Given the description of an element on the screen output the (x, y) to click on. 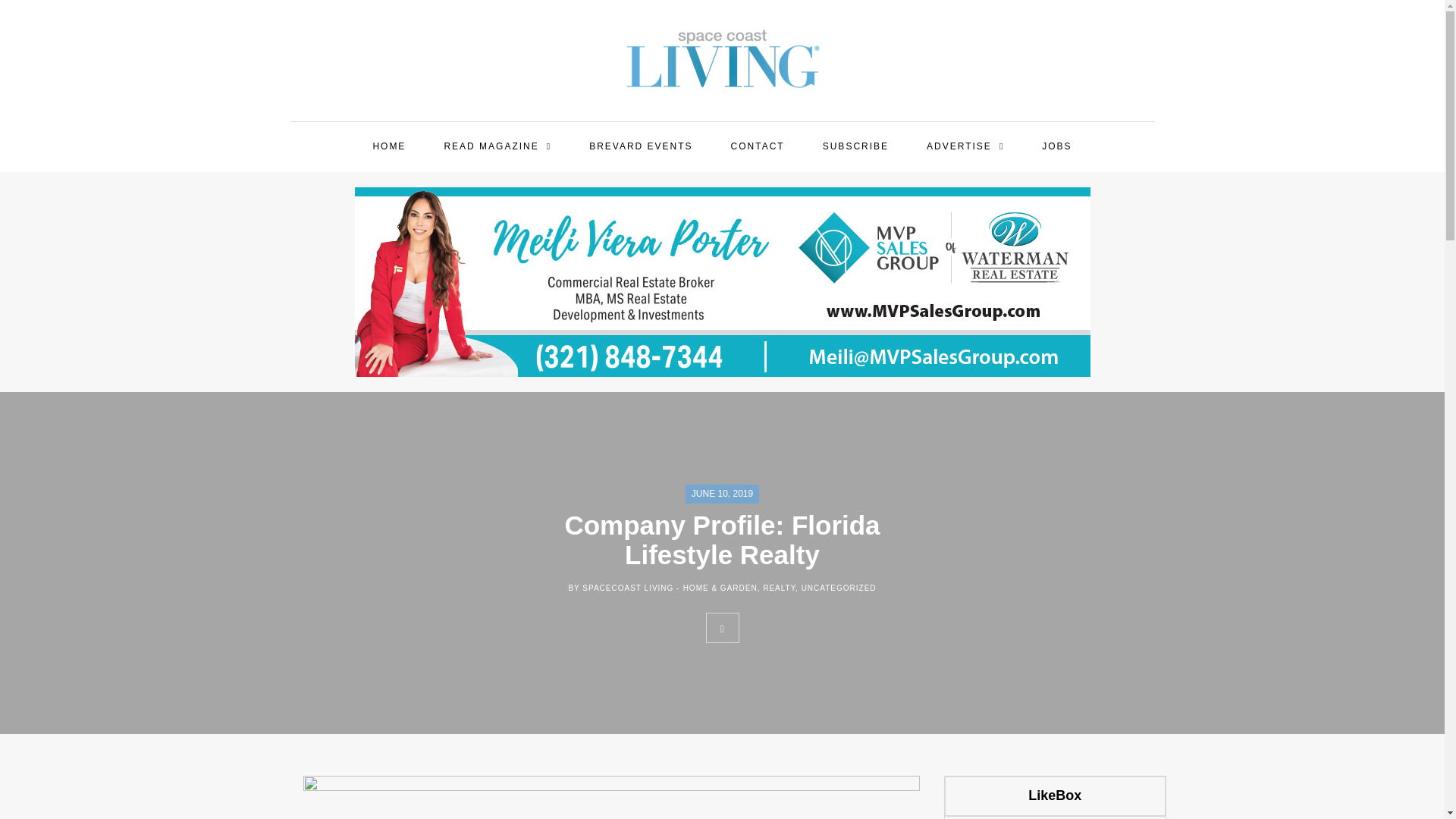
SUBSCRIBE (855, 146)
REALTY (778, 587)
ADVERTISE (965, 146)
Florida Lifestyle Realty (611, 797)
JOBS (1056, 146)
UNCATEGORIZED (839, 587)
CONTACT (757, 146)
BREVARD EVENTS (640, 146)
READ MAGAZINE (496, 146)
HOME (388, 146)
